Given the description of an element on the screen output the (x, y) to click on. 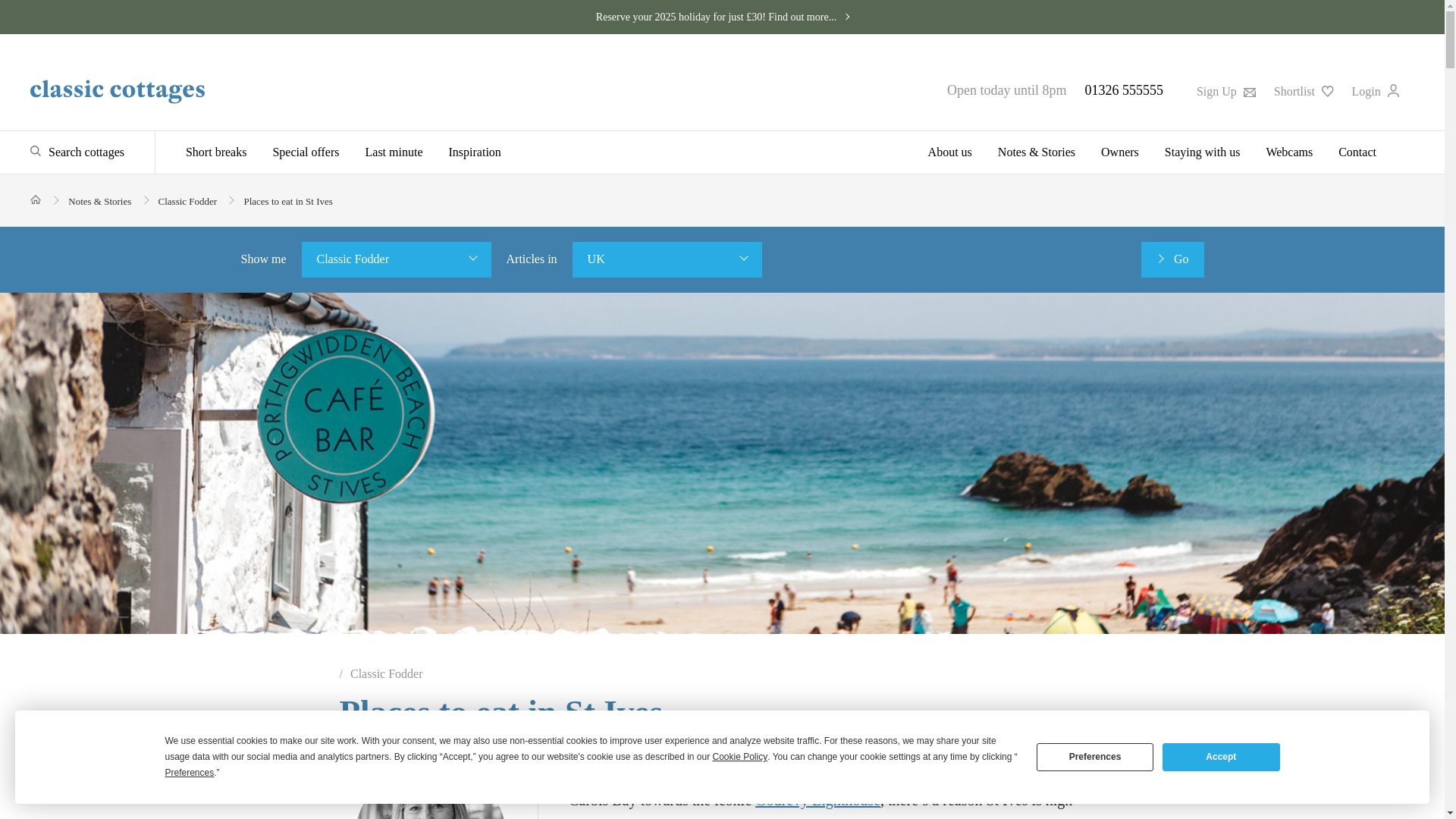
About us (950, 152)
Shortlist (1303, 91)
01326 555555 (1123, 89)
Search cottages (76, 152)
Inspiration (474, 152)
Contact (1350, 152)
Special offers (305, 152)
Classic Fodder (396, 258)
Sign Up (1225, 91)
Accept (1220, 756)
Last minute (393, 152)
Classic Fodder (187, 201)
UK (666, 258)
Webcams (1288, 152)
Preferences (1094, 756)
